Given the description of an element on the screen output the (x, y) to click on. 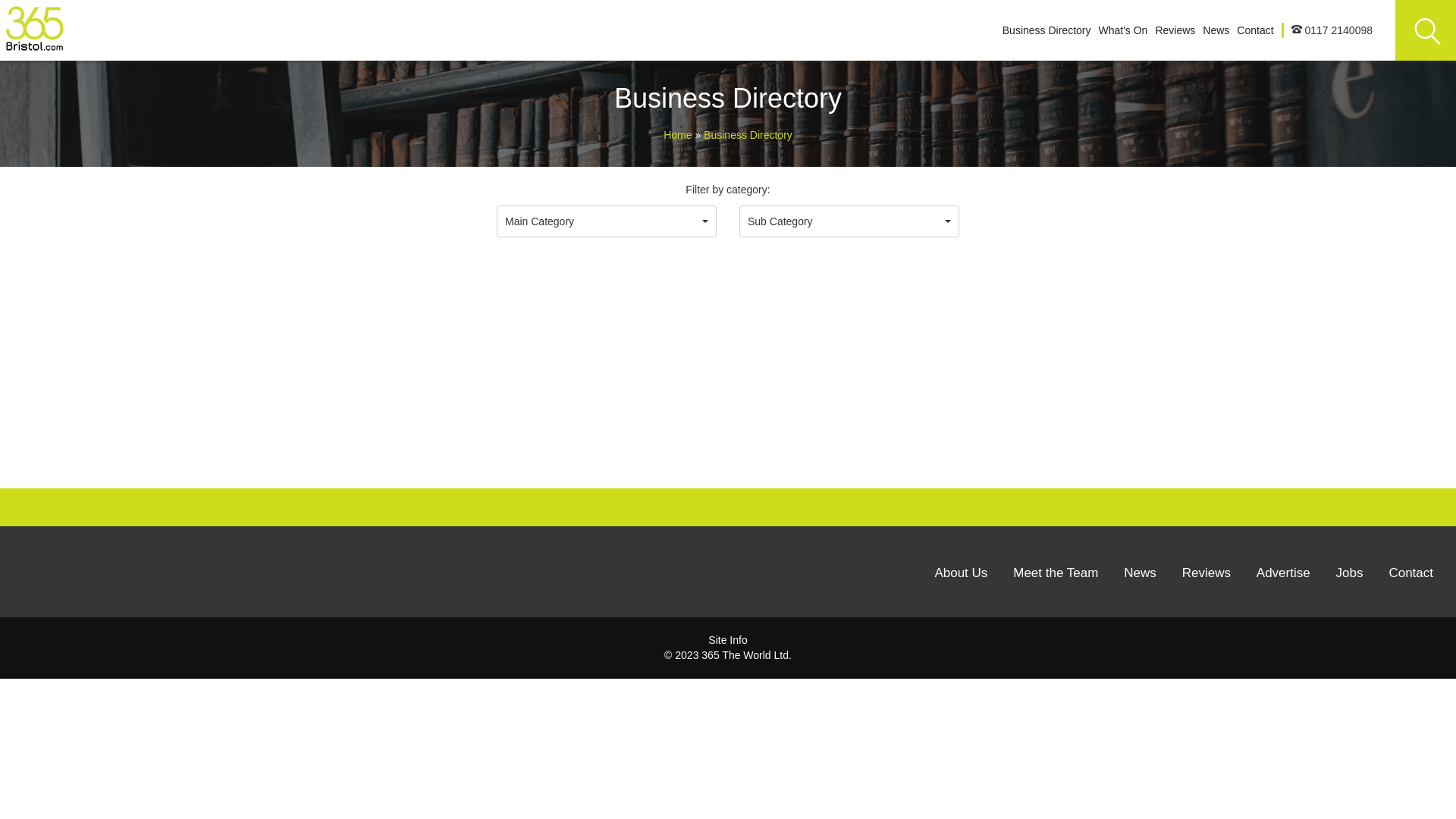
Business Directory Element type: text (747, 134)
News Element type: text (1139, 572)
Business Directory Element type: text (1046, 30)
Contact Element type: text (1410, 572)
Main Category Element type: text (606, 221)
News Element type: text (1215, 30)
About Us Element type: text (960, 572)
Home Element type: text (678, 134)
Site Info Element type: text (727, 639)
Contact Element type: text (1254, 30)
Sub Category Element type: text (849, 221)
Meet the Team Element type: text (1055, 572)
What'S On Element type: text (1122, 30)
Advertise Element type: text (1283, 572)
Reviews Element type: text (1174, 30)
Jobs Element type: text (1349, 572)
Reviews Element type: text (1206, 572)
